Given the description of an element on the screen output the (x, y) to click on. 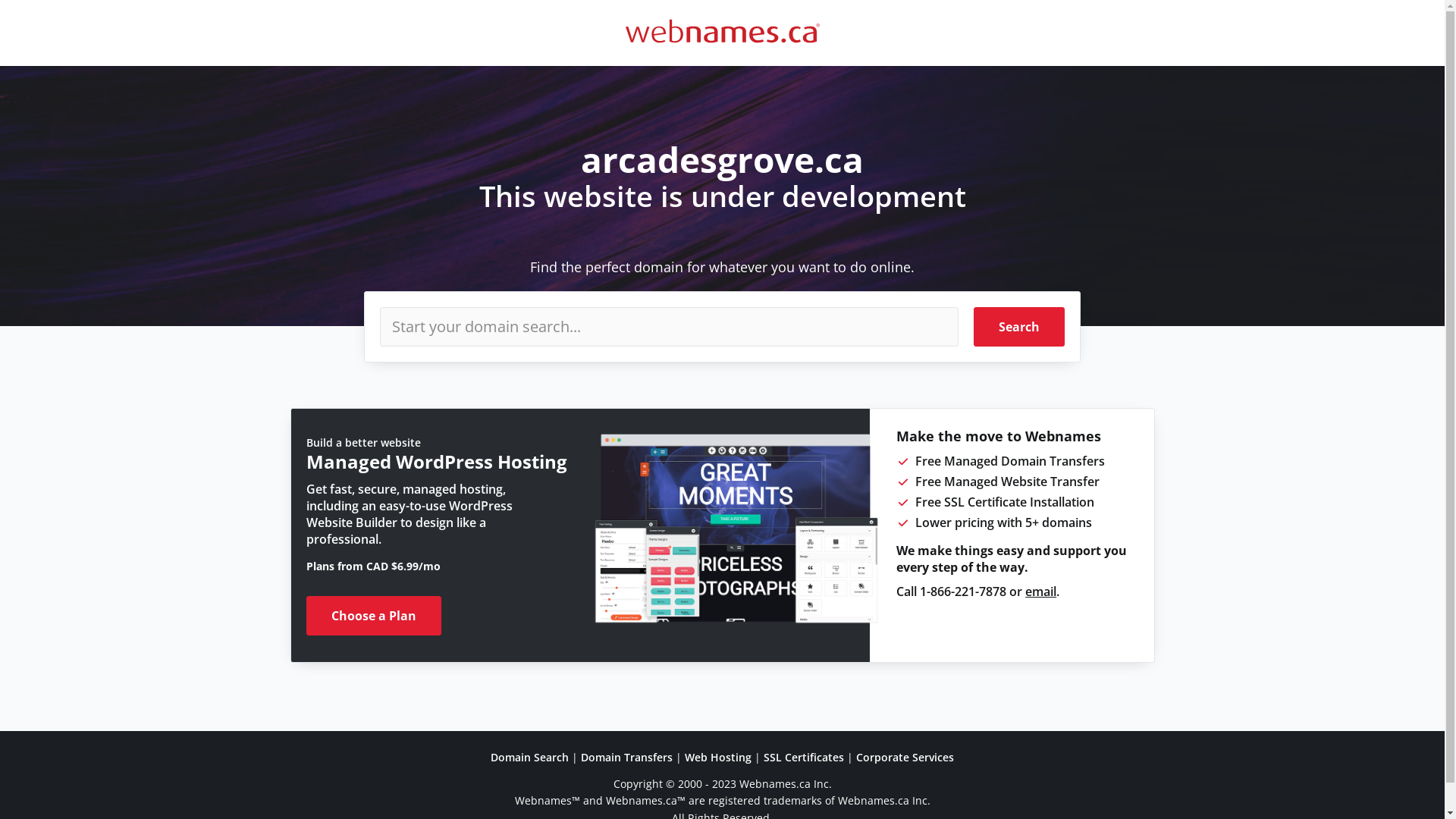
email Element type: text (1040, 591)
Choose a Plan Element type: text (373, 615)
Domain Transfers Element type: text (626, 756)
Web Hosting Element type: text (717, 756)
SSL Certificates Element type: text (803, 756)
1-866-221-7878 Element type: text (962, 591)
Domain Search Element type: text (529, 756)
Search Element type: text (1018, 326)
Corporate Services Element type: text (904, 756)
